Given the description of an element on the screen output the (x, y) to click on. 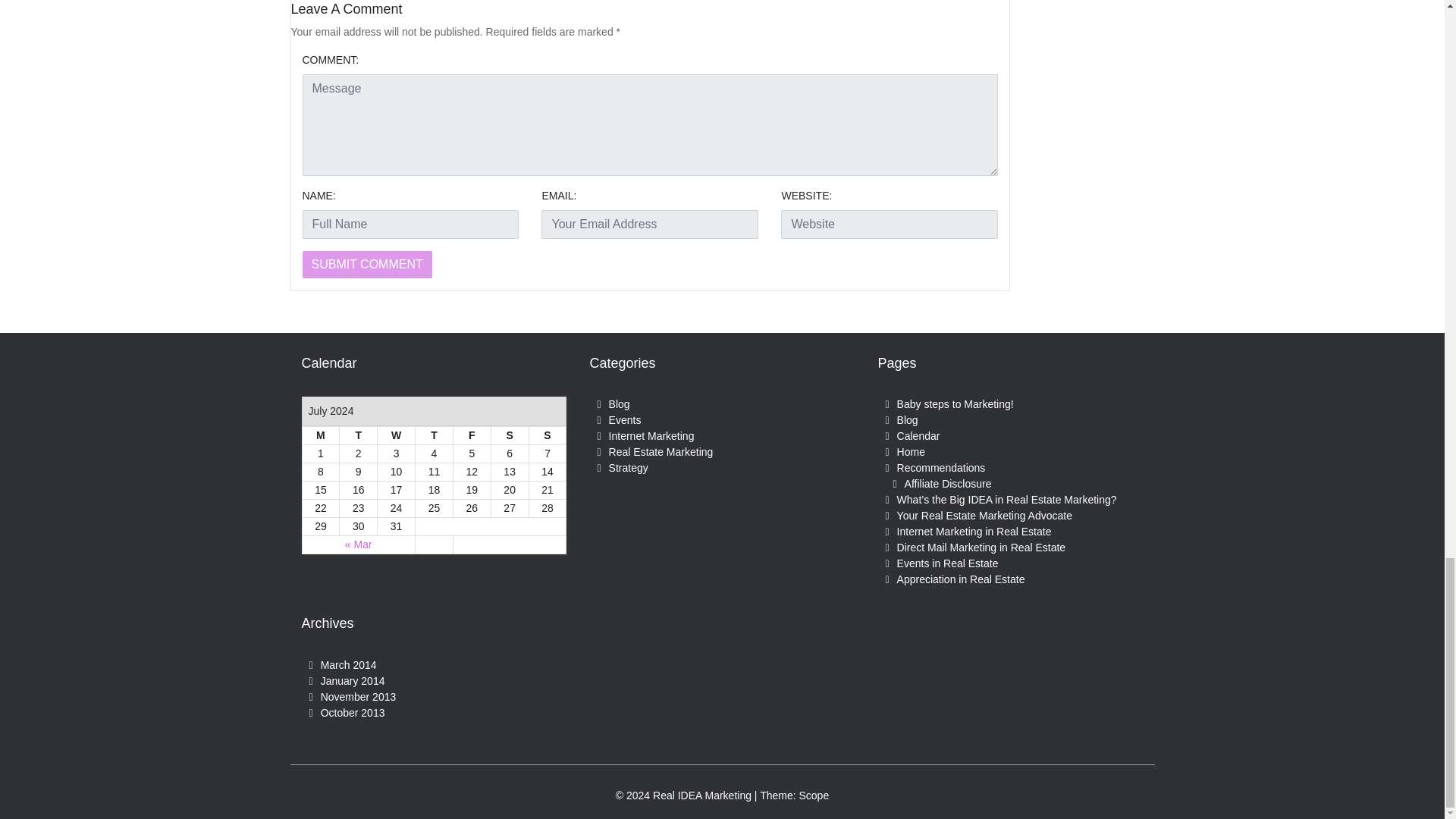
Recommendations (940, 467)
Thursday (433, 435)
SUBMIT COMMENT (365, 264)
Events in Real Estate (947, 563)
Blog (907, 419)
Baby steps to Marketing! (954, 404)
Your Real Estate Marketing Advocate (983, 515)
Blog (619, 404)
Friday (471, 435)
Direct Mail Marketing in Real Estate (980, 547)
Events (625, 419)
SUBMIT COMMENT (365, 264)
Home (910, 451)
Internet Marketing (651, 435)
Strategy (627, 467)
